Given the description of an element on the screen output the (x, y) to click on. 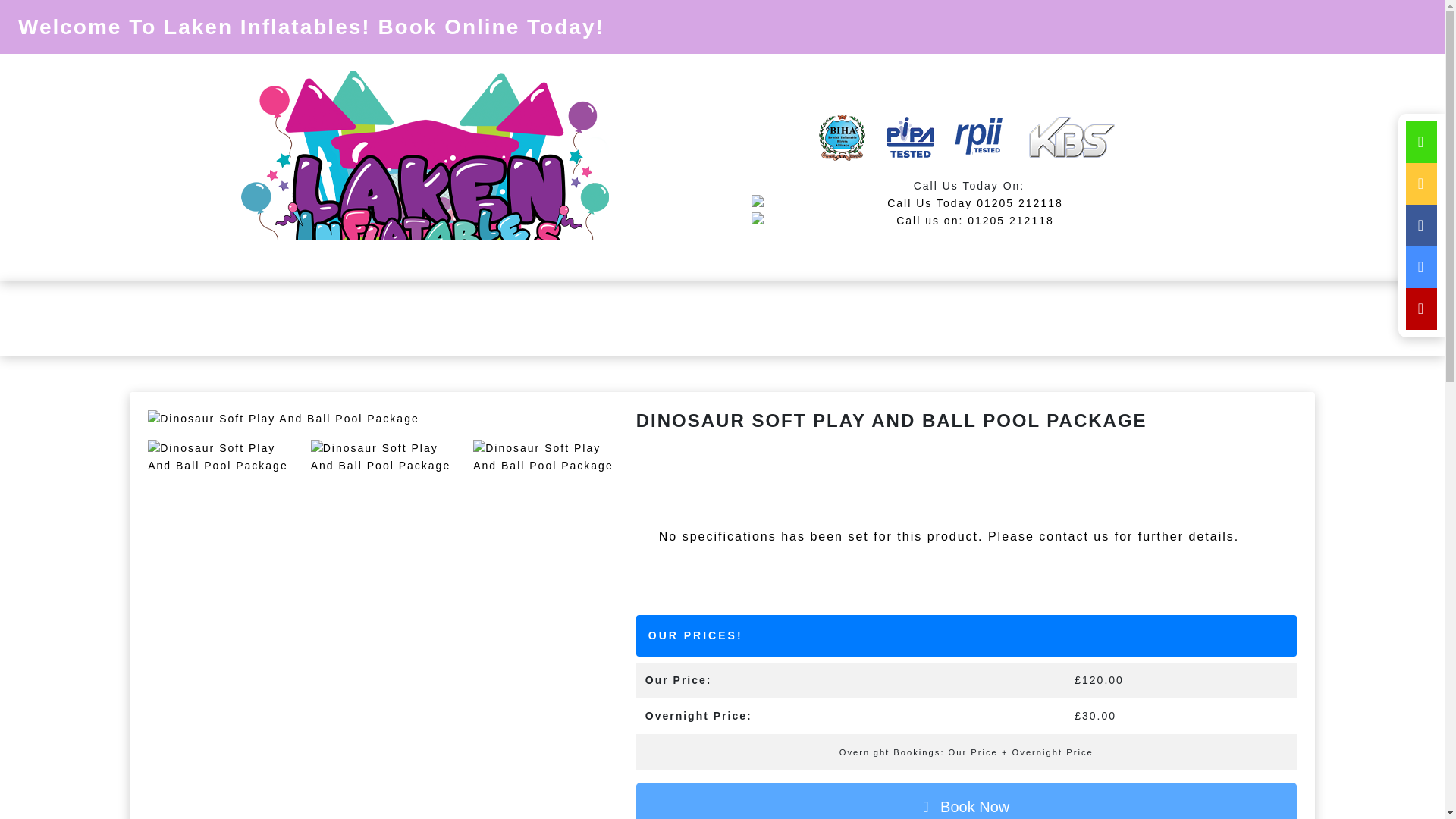
RPII Tested (979, 137)
Dinosaur Soft Play And Ball Pool Package (380, 418)
BIHA Member (842, 137)
Dinosaur Soft Play And Ball Pool Package (218, 457)
Call Us Today 01205 212118 (968, 202)
HIRE (467, 318)
PIPA Tested (910, 137)
Dinosaur Soft Play And Ball Pool Package (381, 457)
Call us today! (968, 221)
Laken Inflatables (425, 167)
